Given the description of an element on the screen output the (x, y) to click on. 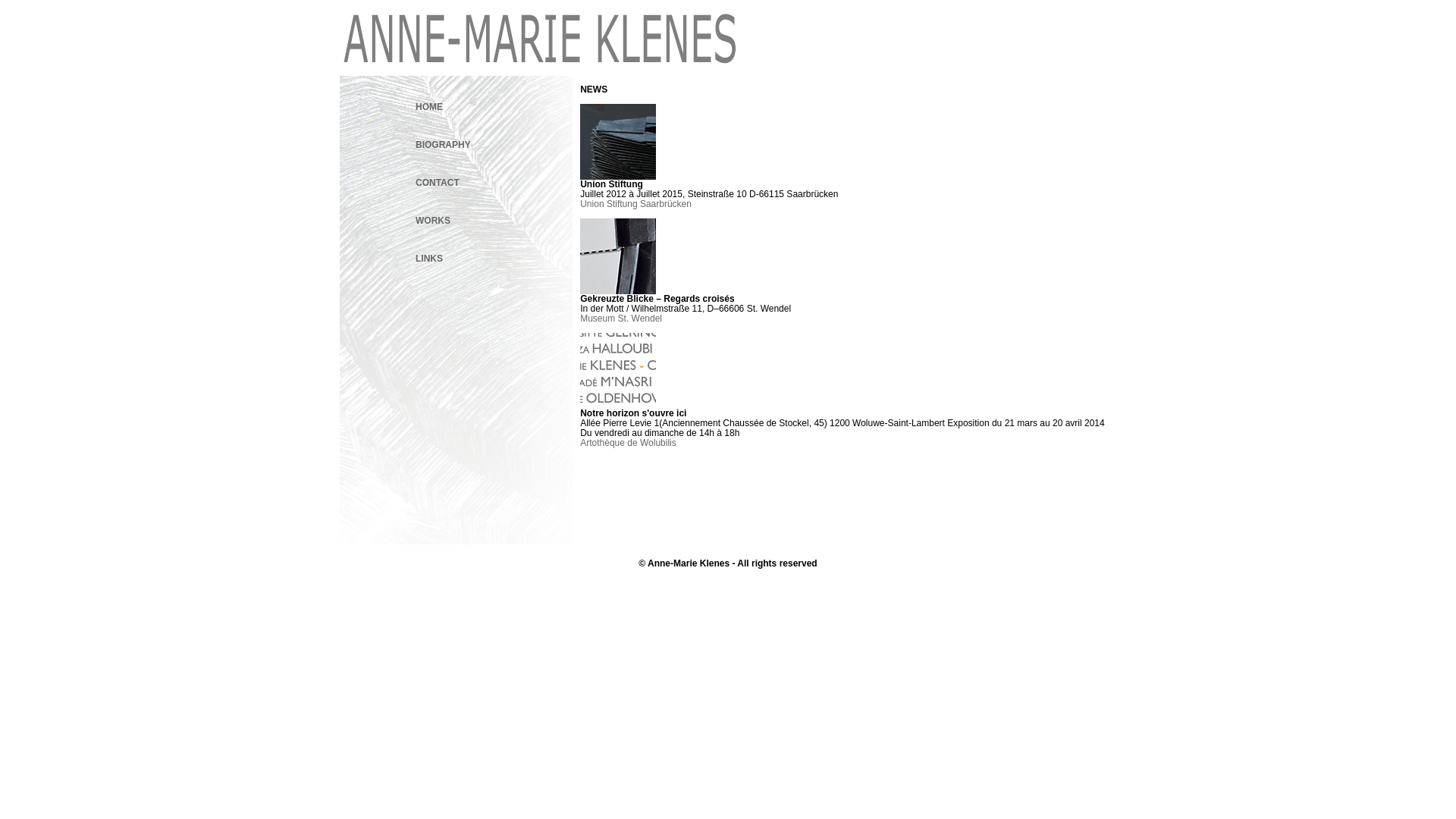
CONTACT Element type: text (437, 182)
WORKS Element type: text (432, 220)
BIOGRAPHY Element type: text (442, 144)
Invitation Element type: hover (617, 405)
Museum St. Wendel Element type: text (621, 318)
LINKS Element type: text (428, 258)
HOME Element type: text (428, 106)
Invitation Element type: hover (617, 290)
